Given the description of an element on the screen output the (x, y) to click on. 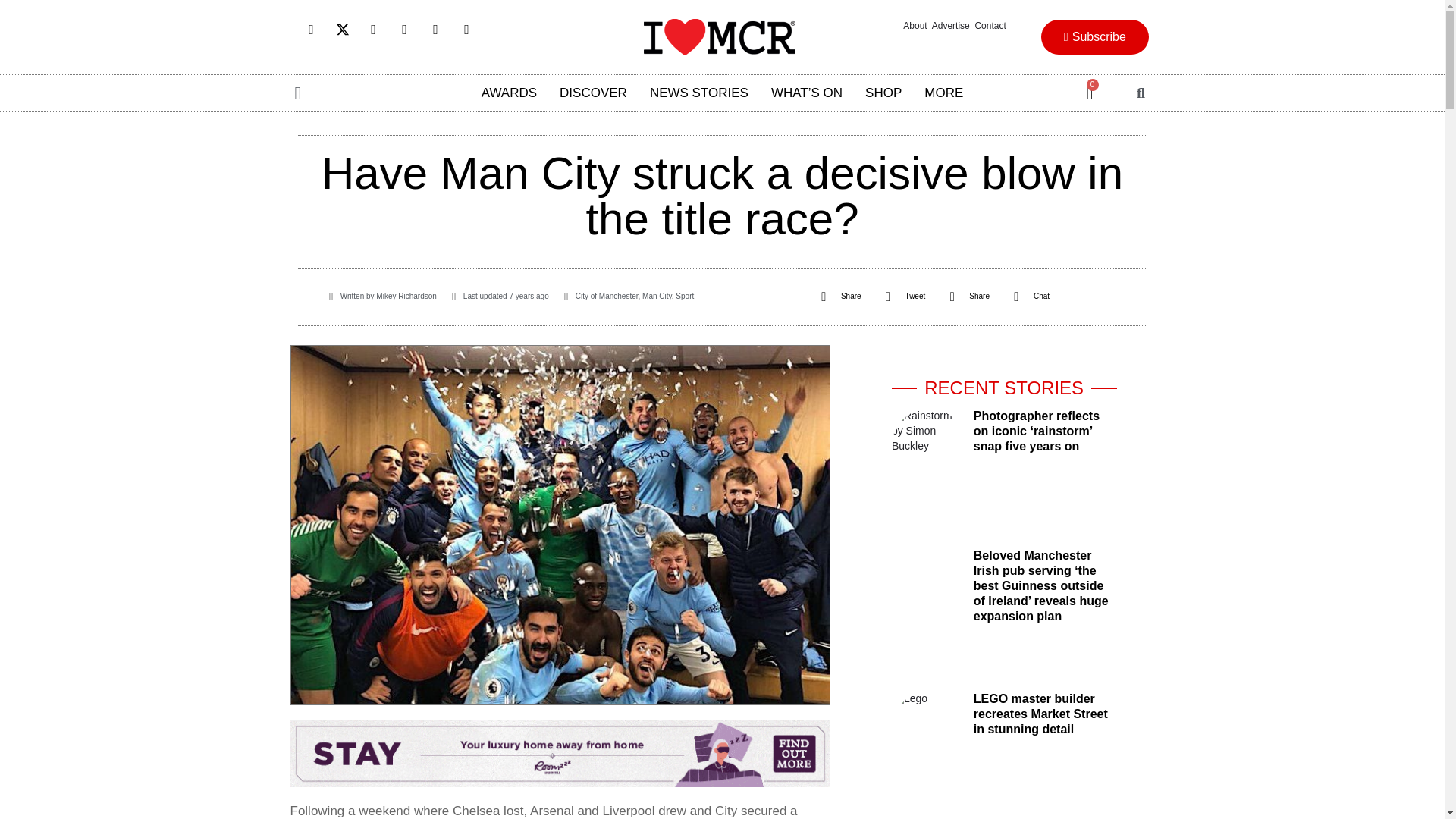
AWARDS (509, 93)
Contact (990, 25)
Advertise (950, 25)
NEWS STORIES (699, 93)
DISCOVER (593, 93)
ilovemcr-website-logo 544 (718, 36)
About (914, 25)
Subscribe (1094, 36)
